Given the description of an element on the screen output the (x, y) to click on. 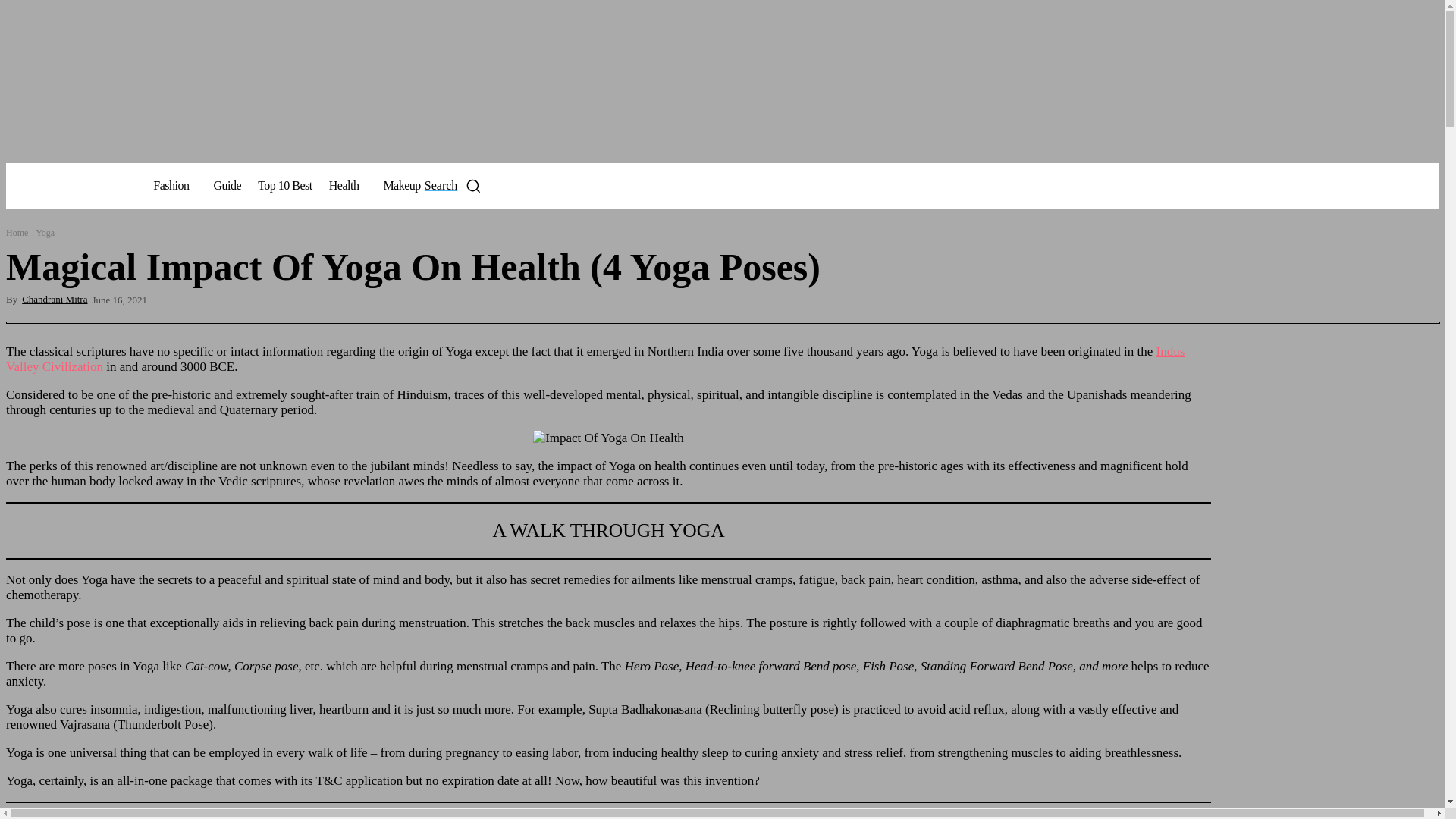
Makeup (400, 185)
Fashion (174, 185)
View all posts in Yoga (44, 232)
Indus Valley Civilization (595, 358)
Home (16, 232)
Search (62, 186)
Top 10 Best (453, 185)
Yoga (284, 185)
Chandrani Mitra (44, 232)
